Given the description of an element on the screen output the (x, y) to click on. 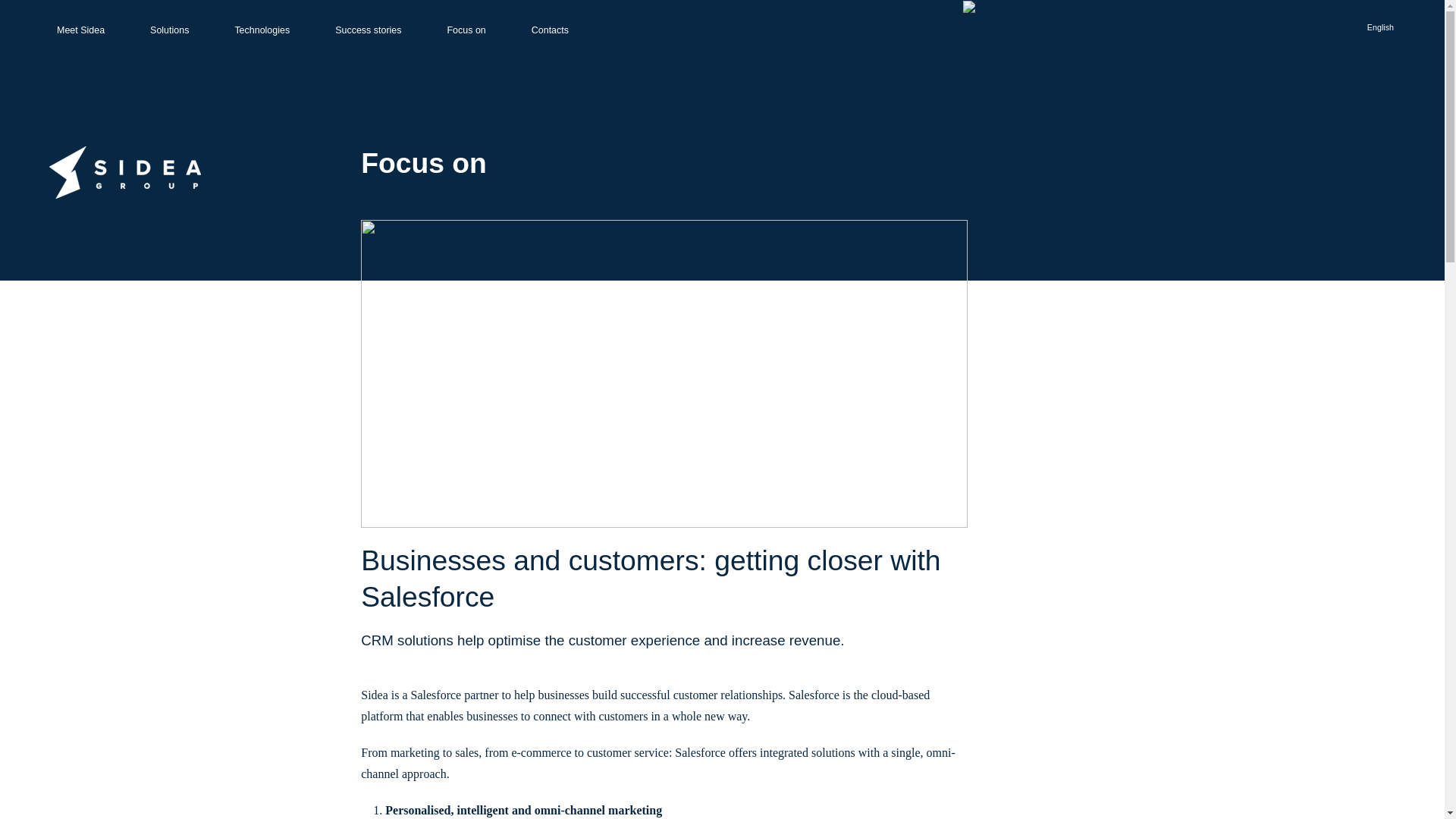
Contacts (550, 30)
Success stories (368, 30)
Focus on (466, 30)
Technologies (262, 30)
English (1380, 27)
Solutions (169, 30)
Meet Sidea (80, 30)
